Given the description of an element on the screen output the (x, y) to click on. 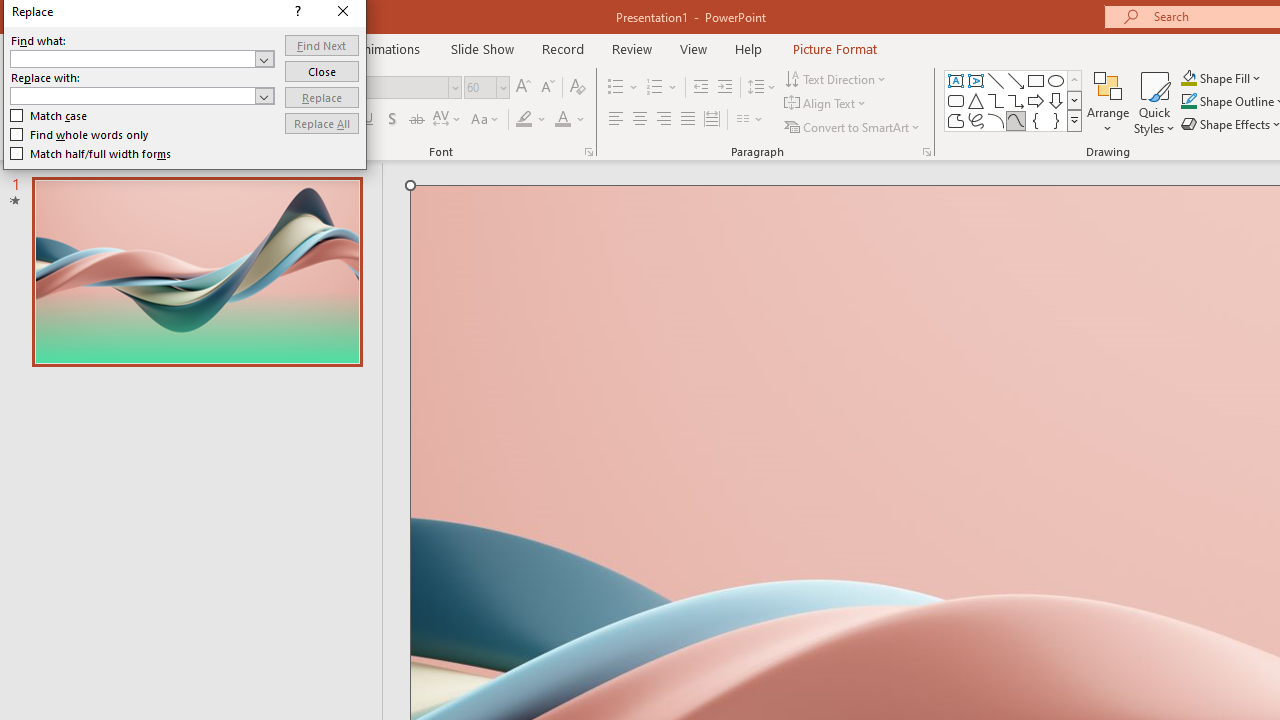
Text Direction (836, 78)
Freeform: Scribble (975, 120)
Row Down (1074, 100)
Clear Formatting (577, 87)
More Options (1232, 78)
Character Spacing (447, 119)
Numbering (654, 87)
Review (631, 48)
Curve (1016, 120)
Open (263, 95)
Bullets (623, 87)
Arrow: Down (1055, 100)
Class: NetUIImage (1075, 120)
Replace (321, 96)
View (693, 48)
